Given the description of an element on the screen output the (x, y) to click on. 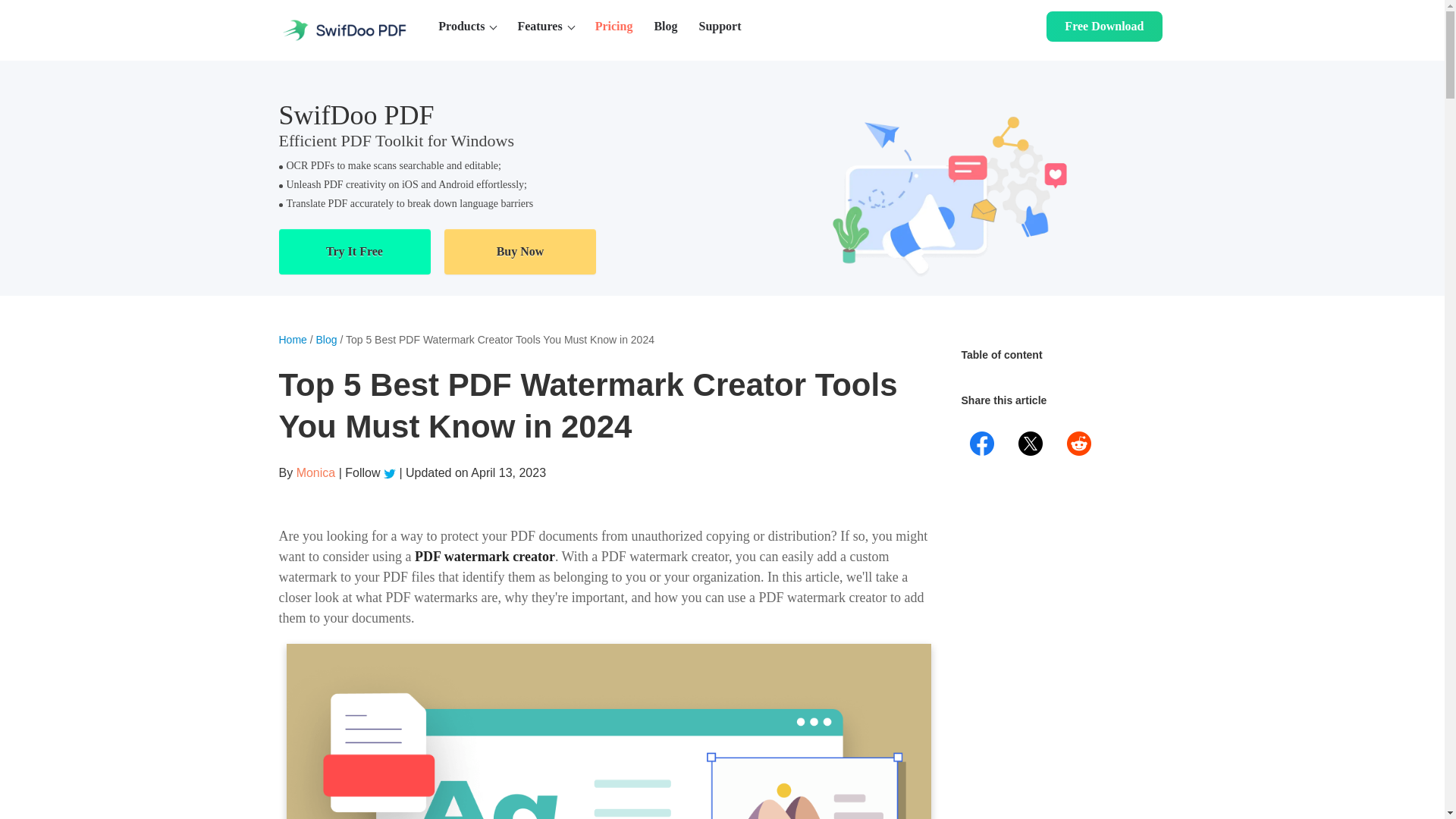
Twitter (391, 472)
Features (544, 26)
Blog (665, 26)
Free Download (1103, 26)
Products (467, 26)
Pricing (614, 26)
Support (720, 26)
